Given the description of an element on the screen output the (x, y) to click on. 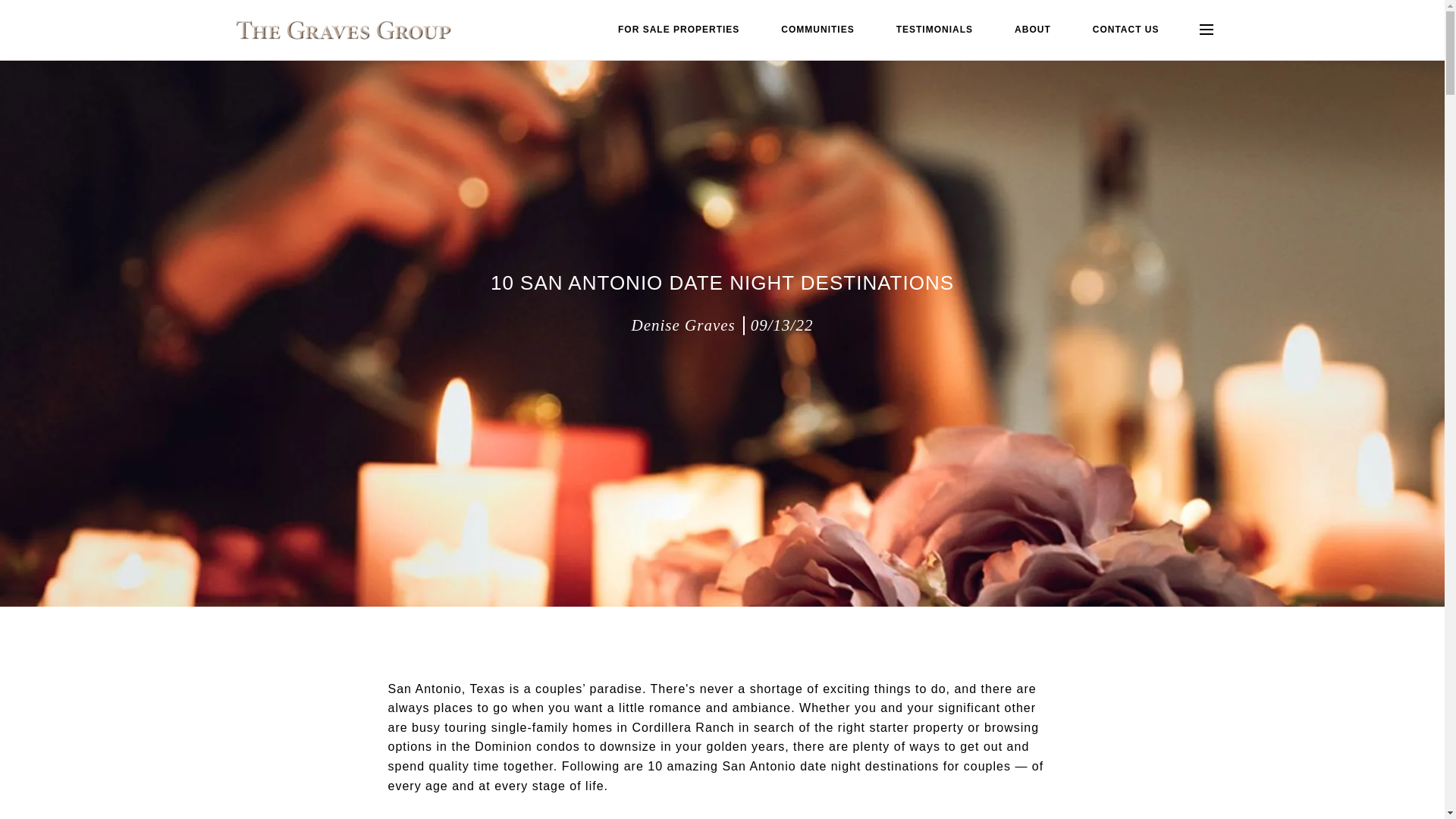
ABOUT (1032, 29)
COMMUNITIES (816, 29)
FOR SALE PROPERTIES (678, 29)
TESTIMONIALS (934, 29)
CONTACT US (1125, 29)
